Given the description of an element on the screen output the (x, y) to click on. 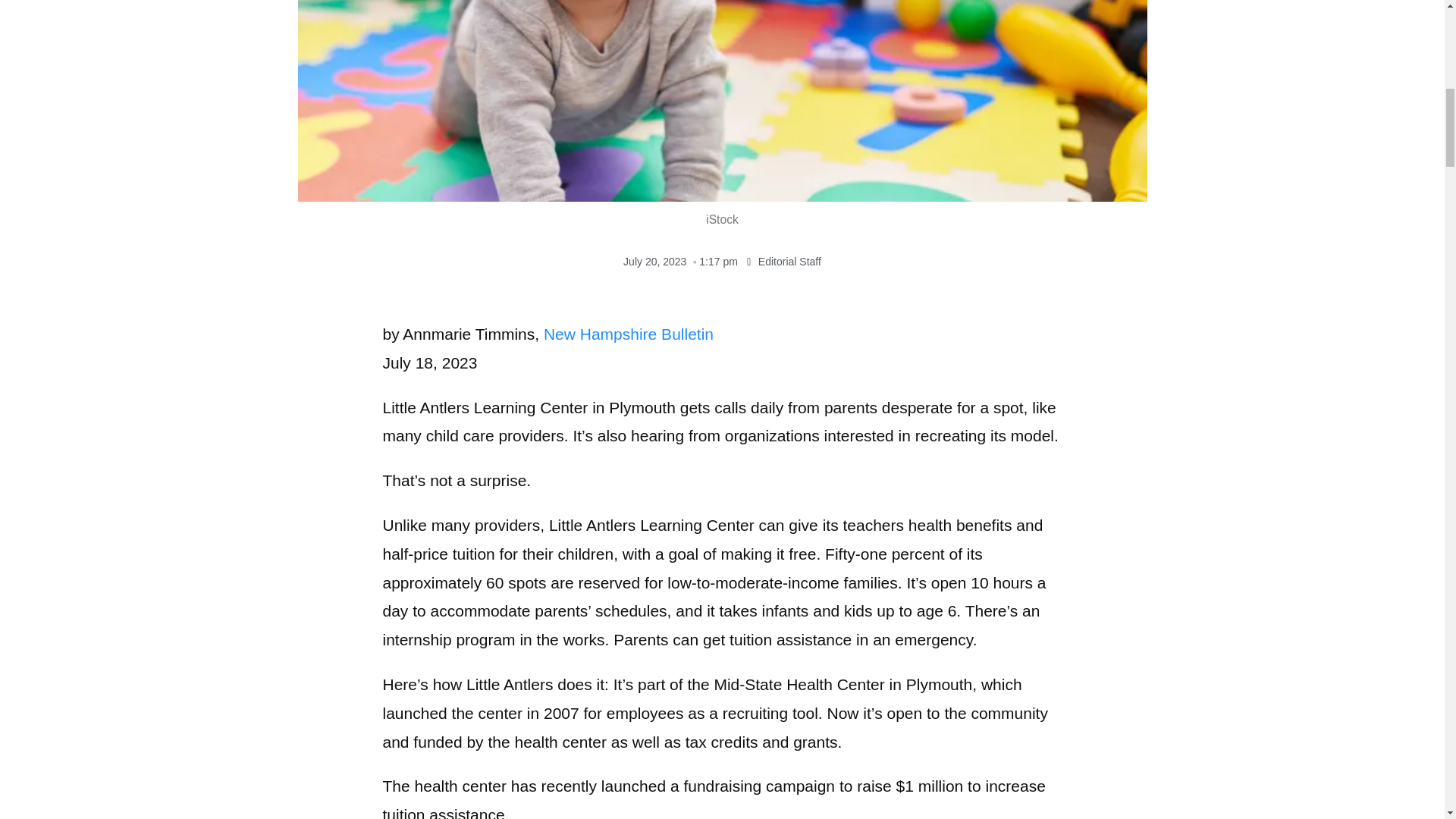
New Hampshire Bulletin (628, 334)
